Given the description of an element on the screen output the (x, y) to click on. 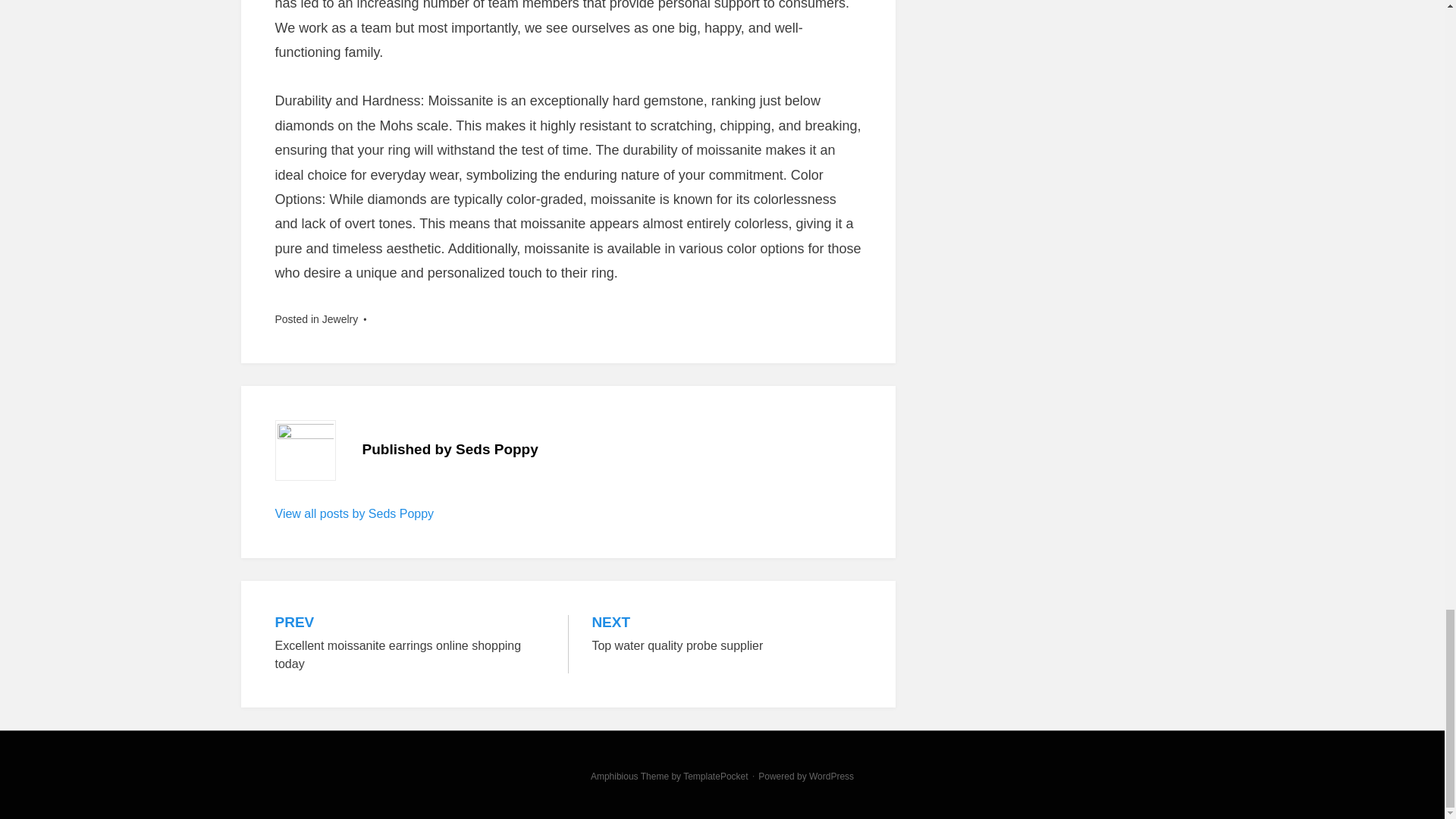
WordPress (726, 635)
TemplatePocket (831, 776)
View all posts by Seds Poppy (409, 644)
TemplatePocket (715, 776)
WordPress (354, 513)
Jewelry (715, 776)
